Given the description of an element on the screen output the (x, y) to click on. 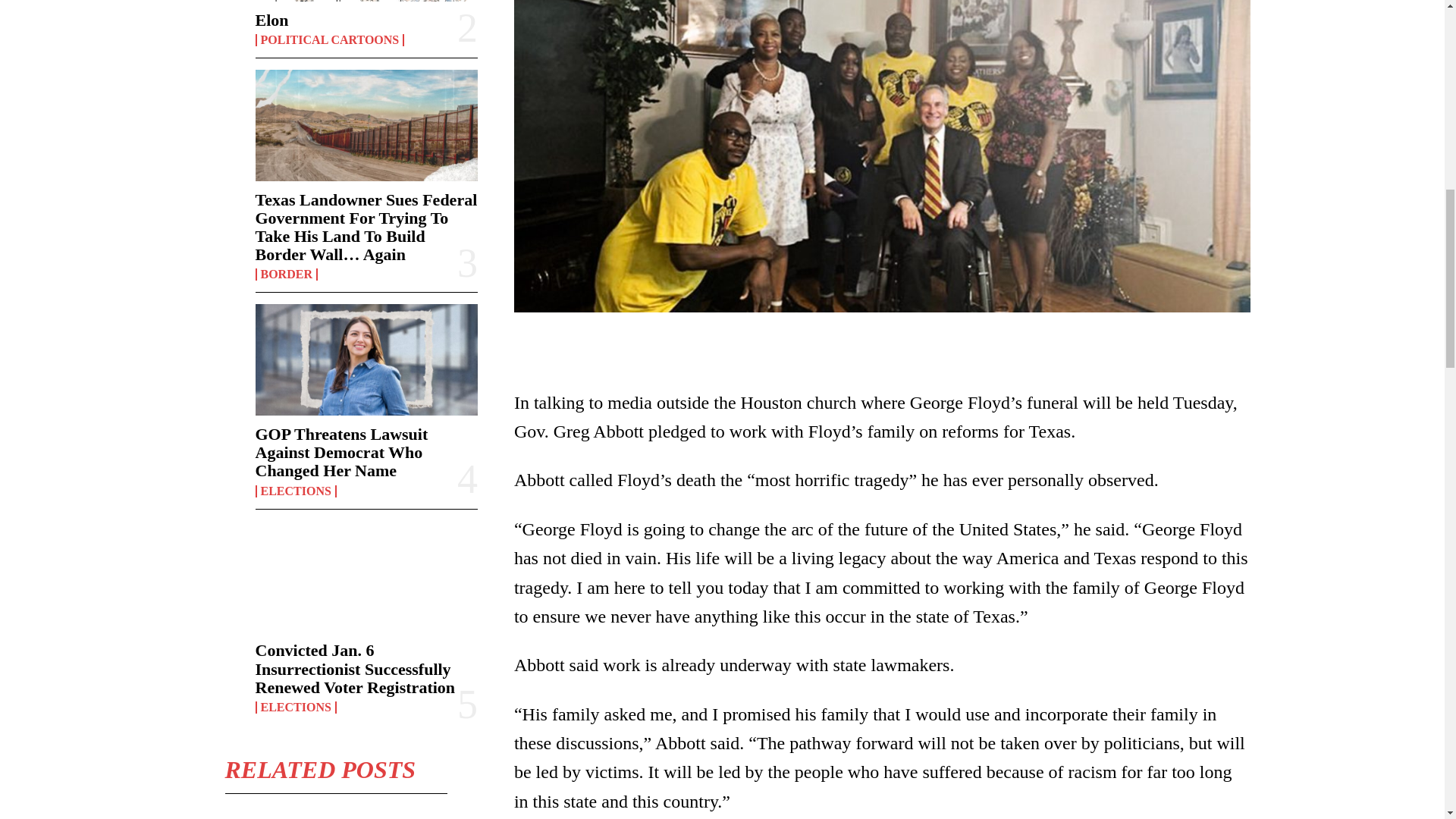
Elon (271, 19)
